Given the description of an element on the screen output the (x, y) to click on. 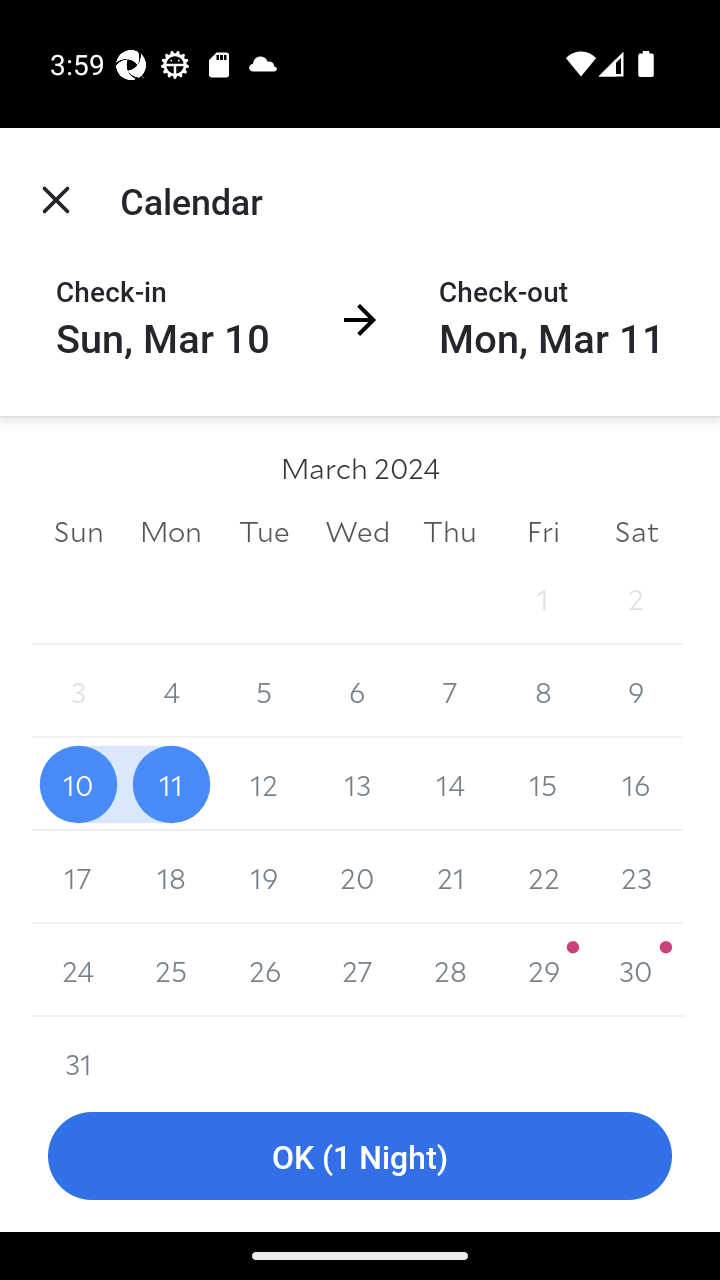
Sun (78, 530)
Mon (171, 530)
Tue (264, 530)
Wed (357, 530)
Thu (449, 530)
Fri (542, 530)
Sat (636, 530)
1 1 March 2024 (542, 598)
2 2 March 2024 (636, 598)
3 3 March 2024 (78, 691)
4 4 March 2024 (171, 691)
5 5 March 2024 (264, 691)
6 6 March 2024 (357, 691)
7 7 March 2024 (449, 691)
8 8 March 2024 (542, 691)
9 9 March 2024 (636, 691)
10 10 March 2024 (78, 784)
11 11 March 2024 (171, 784)
12 12 March 2024 (264, 784)
13 13 March 2024 (357, 784)
14 14 March 2024 (449, 784)
15 15 March 2024 (542, 784)
16 16 March 2024 (636, 784)
17 17 March 2024 (78, 877)
18 18 March 2024 (171, 877)
19 19 March 2024 (264, 877)
20 20 March 2024 (357, 877)
21 21 March 2024 (449, 877)
22 22 March 2024 (542, 877)
23 23 March 2024 (636, 877)
24 24 March 2024 (78, 970)
25 25 March 2024 (171, 970)
26 26 March 2024 (264, 970)
27 27 March 2024 (357, 970)
28 28 March 2024 (449, 970)
29 29 March 2024 (542, 970)
30 30 March 2024 (636, 970)
31 31 March 2024 (78, 1048)
OK (1 Night) (359, 1156)
